Given the description of an element on the screen output the (x, y) to click on. 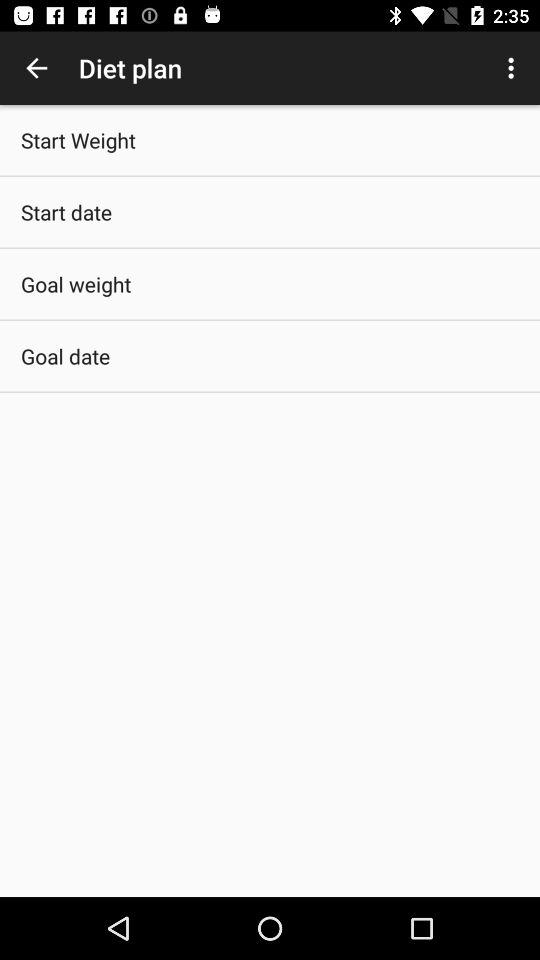
open icon next to diet plan item (513, 67)
